Given the description of an element on the screen output the (x, y) to click on. 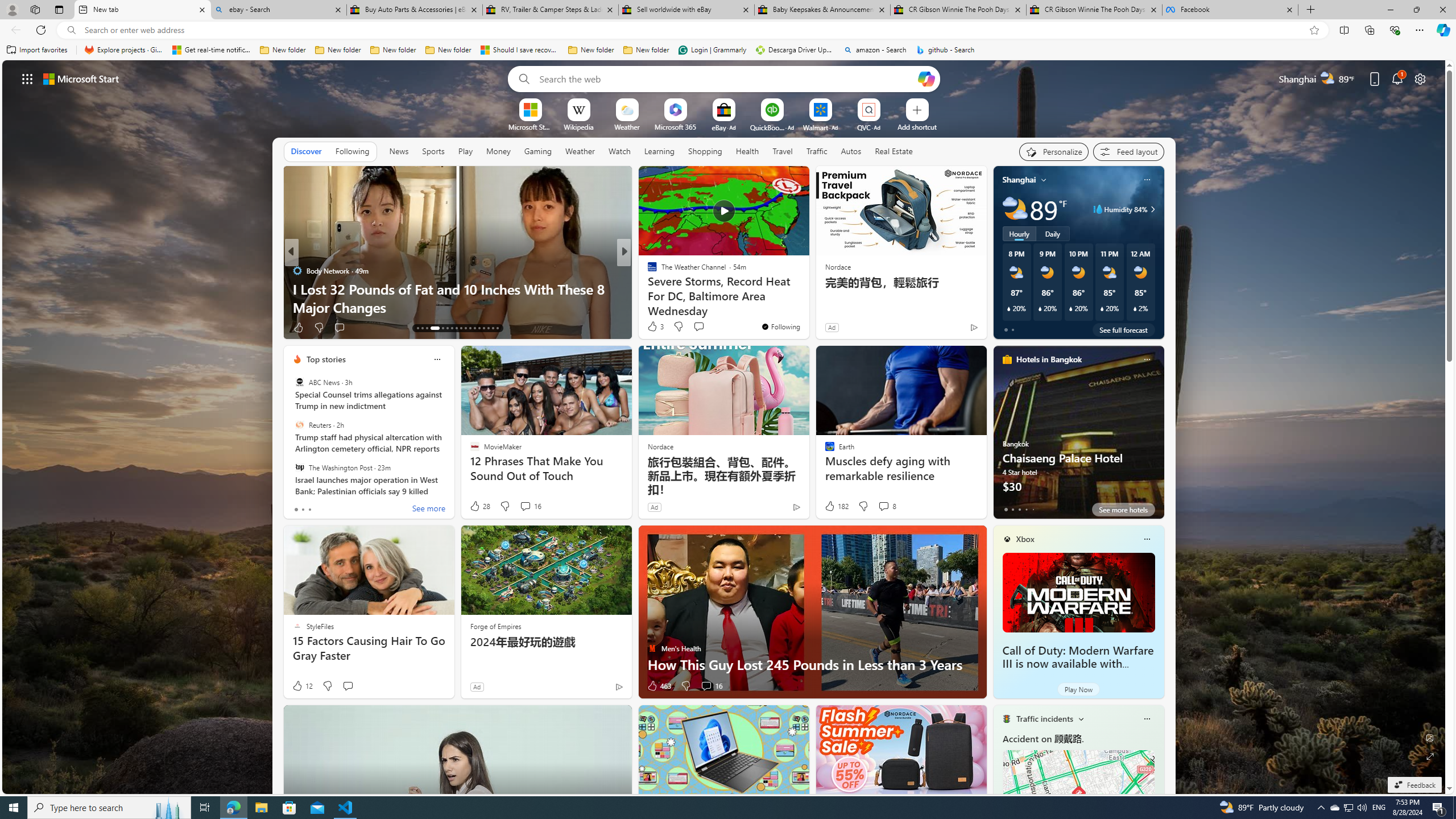
Partly cloudy (1014, 208)
Class: weather-arrow-glyph (1152, 208)
RV, Trailer & Camper Steps & Ladders for sale | eBay (550, 9)
Descarga Driver Updater (794, 49)
21 Indicators of Early Emotional Abuse That Are Easy to Miss (807, 298)
Xbox (1025, 538)
View comments 96 Comment (352, 327)
More Options (886, 101)
View comments 8 Comment (883, 505)
